Given the description of an element on the screen output the (x, y) to click on. 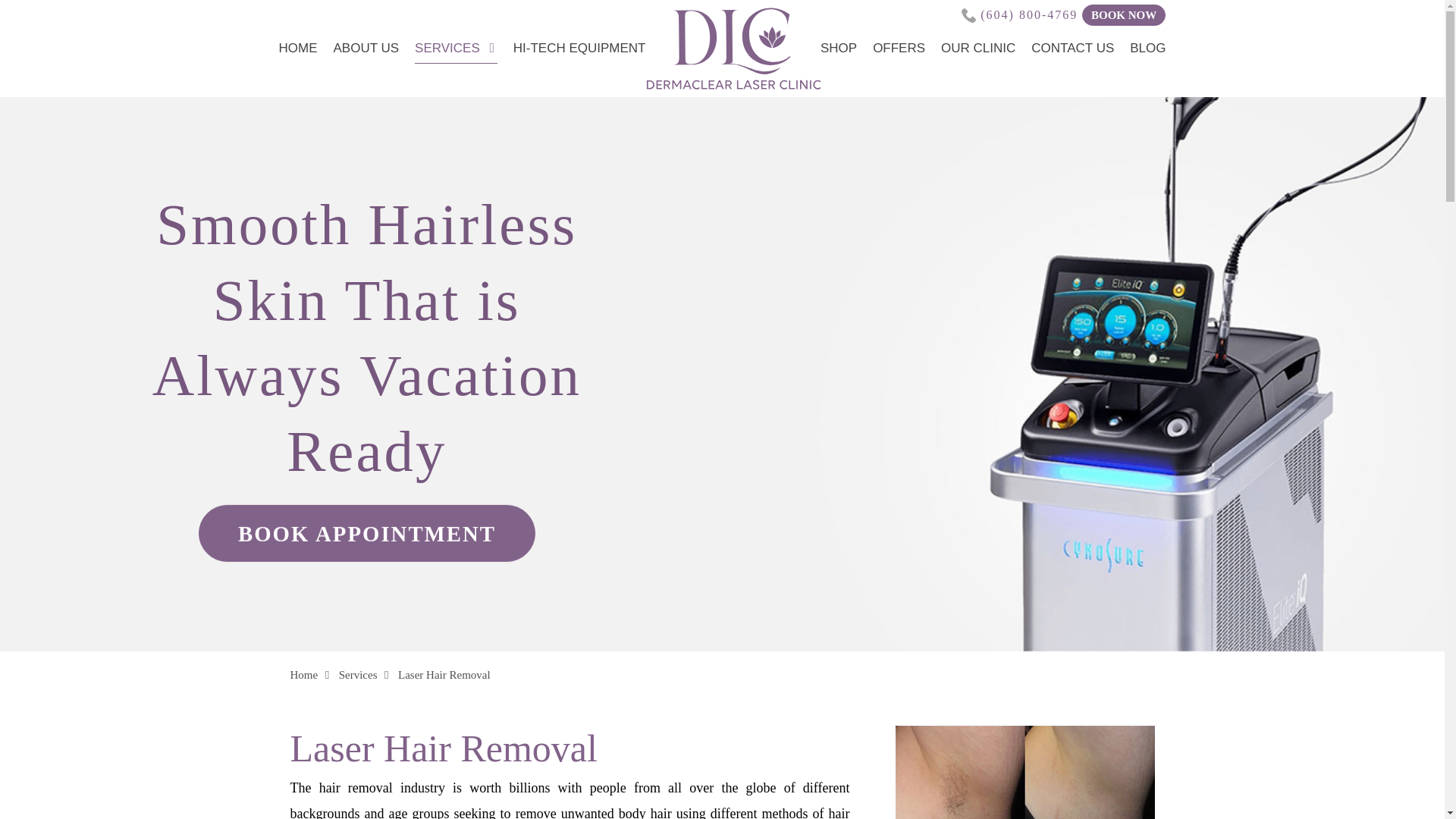
Services (358, 674)
ABOUT US (365, 48)
HI-TECH EQUIPMENT (579, 48)
Home (303, 674)
SERVICES (455, 48)
CONTACT US (1071, 48)
HOME (298, 48)
BLOG (1147, 48)
OUR CLINIC (977, 48)
BOOK APPOINTMENT (366, 533)
SHOP (839, 48)
BOOK NOW (1123, 14)
OFFERS (898, 48)
